Given the description of an element on the screen output the (x, y) to click on. 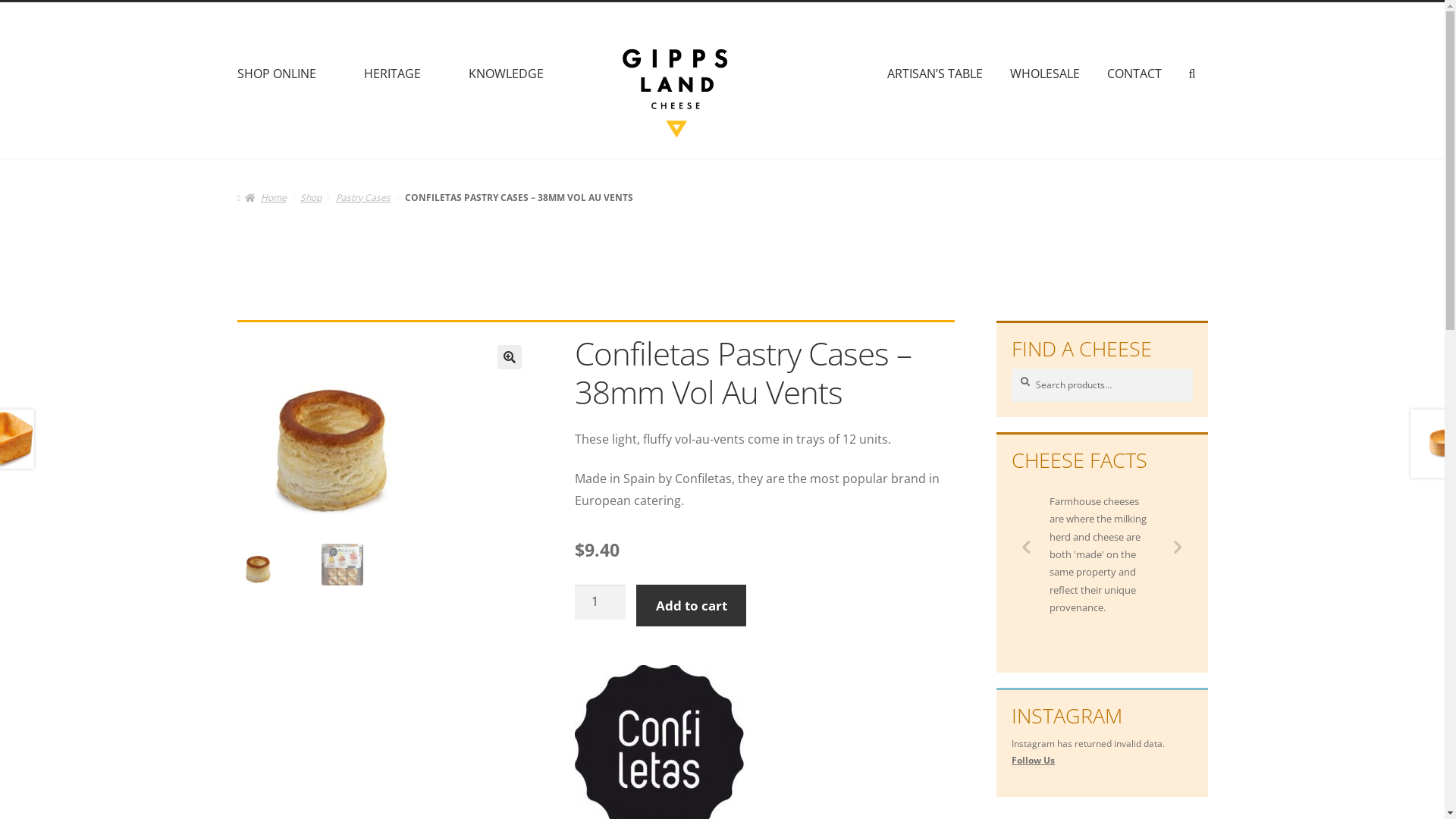
Skip to navigation Element type: text (236, 1)
SHOP ONLINE Element type: text (275, 73)
KNOWLEDGE Element type: text (505, 73)
CONTACT Element type: text (1134, 73)
Shop Element type: text (310, 197)
WHOLESALE Element type: text (1044, 73)
Pastry Cases Element type: text (362, 197)
Add to cart Element type: text (691, 605)
Follow Us Element type: text (1032, 760)
Mini-Vol-au-vent-38-250x250 Element type: hover (331, 429)
Search Element type: text (1010, 367)
Home Element type: text (264, 197)
HERITAGE Element type: text (392, 73)
